Given the description of an element on the screen output the (x, y) to click on. 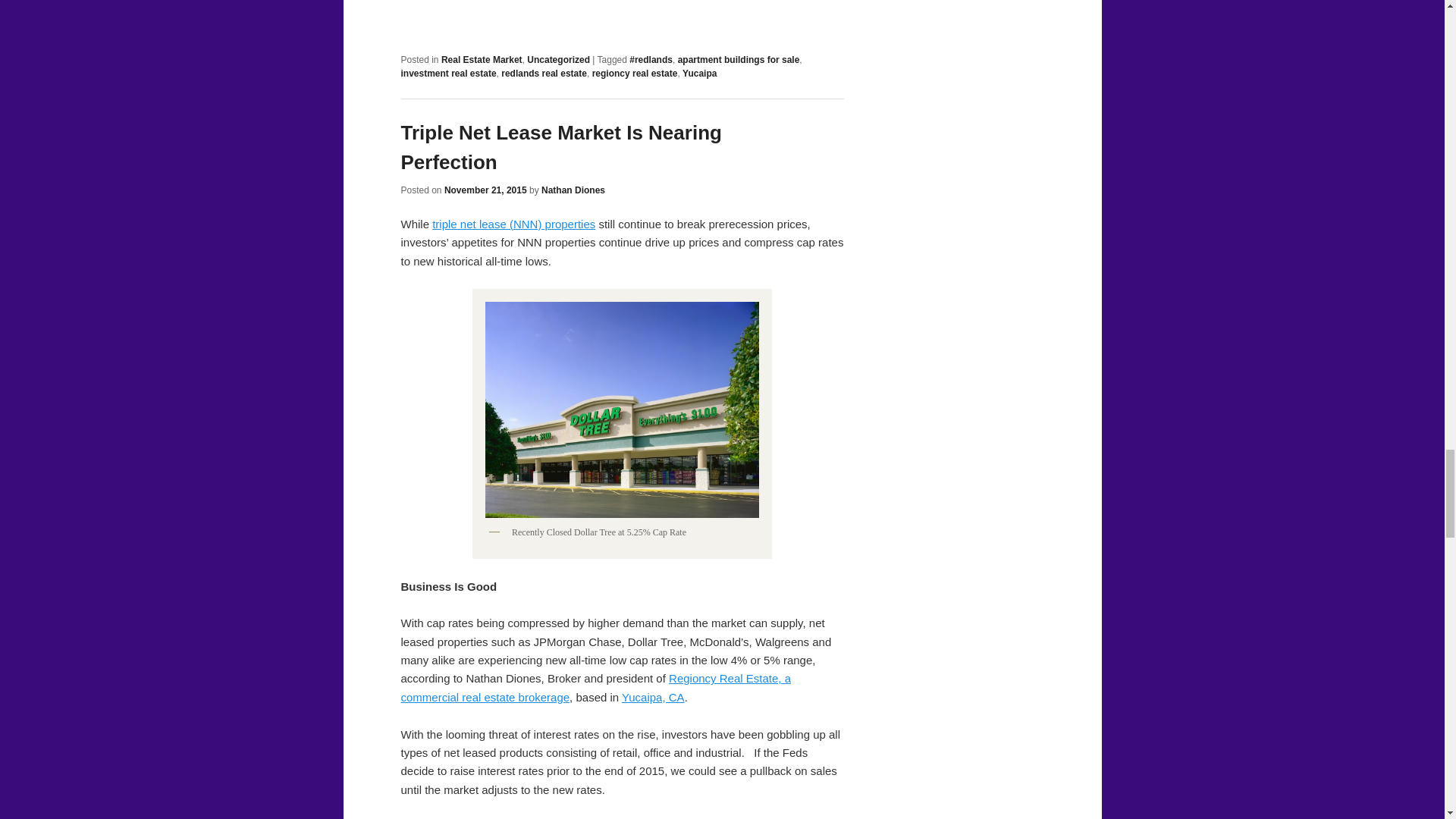
Real Estate Market (481, 59)
investment real estate (448, 72)
View all posts by Nathan Diones (573, 190)
Uncategorized (558, 59)
redlands real estate (543, 72)
apartment buildings for sale (738, 59)
